Given the description of an element on the screen output the (x, y) to click on. 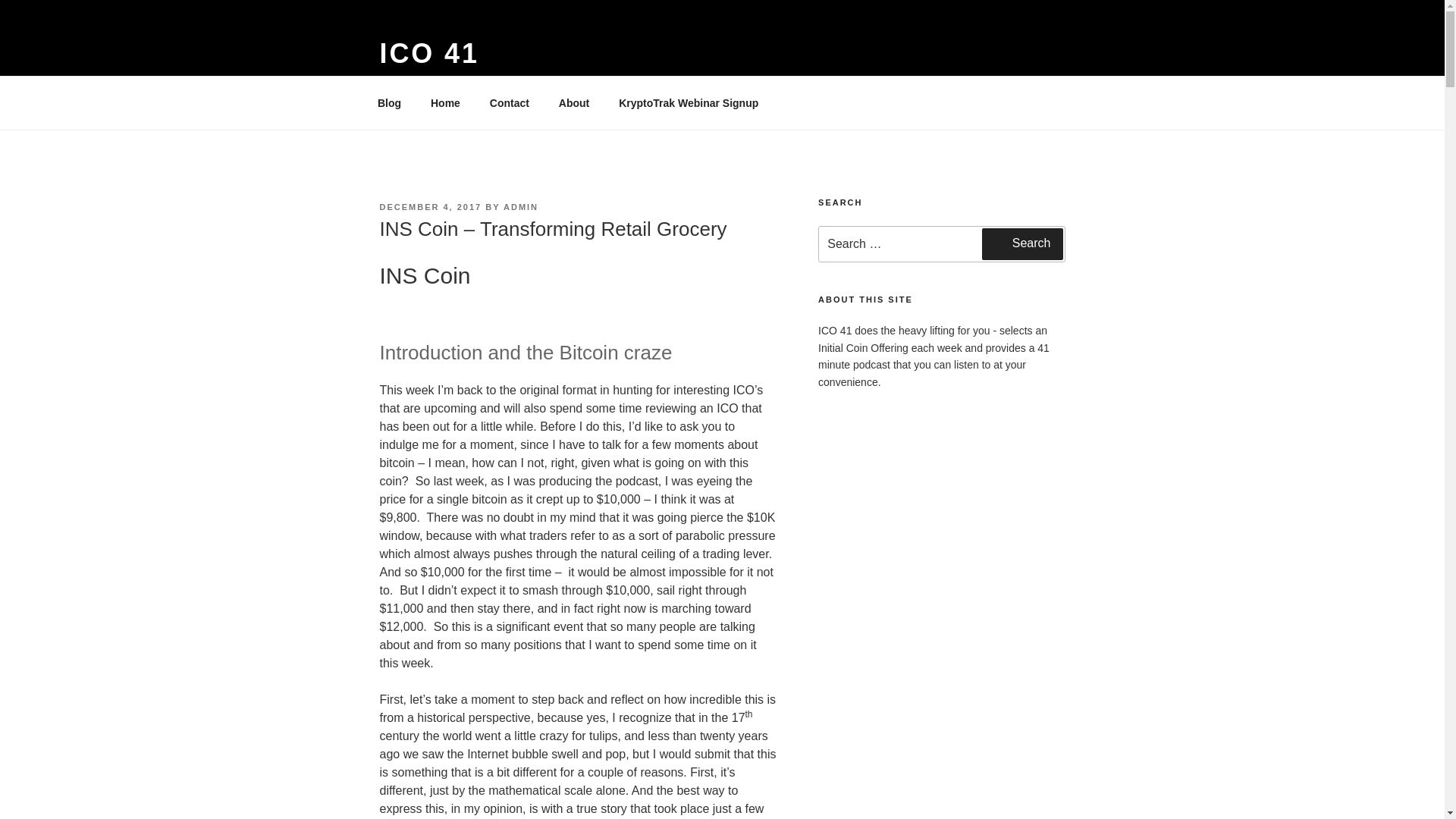
About (573, 103)
Search (1021, 244)
Home (444, 103)
DECEMBER 4, 2017 (429, 206)
KryptoTrak Webinar Signup (688, 103)
Blog (388, 103)
Contact (508, 103)
ADMIN (520, 206)
ICO 41 (428, 52)
